Given the description of an element on the screen output the (x, y) to click on. 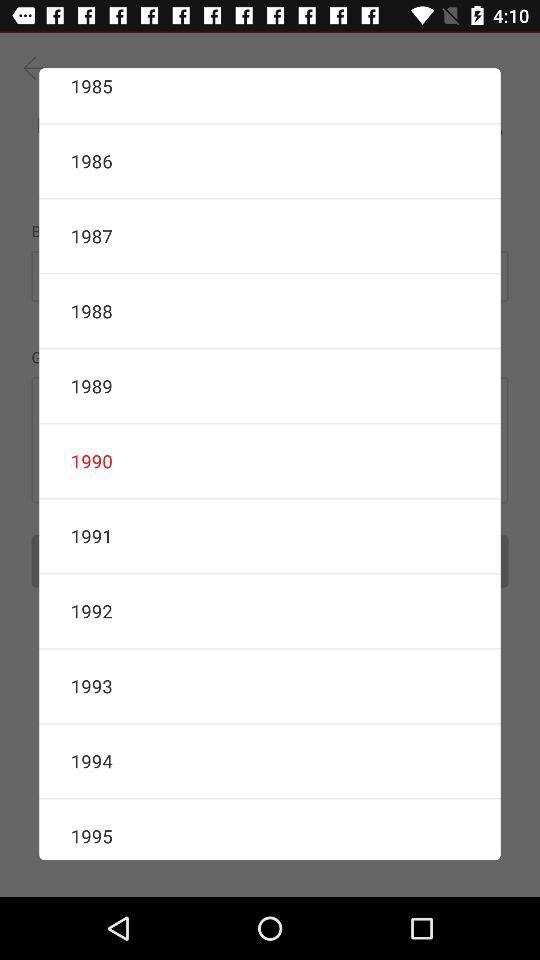
flip until the 1995 (269, 829)
